Given the description of an element on the screen output the (x, y) to click on. 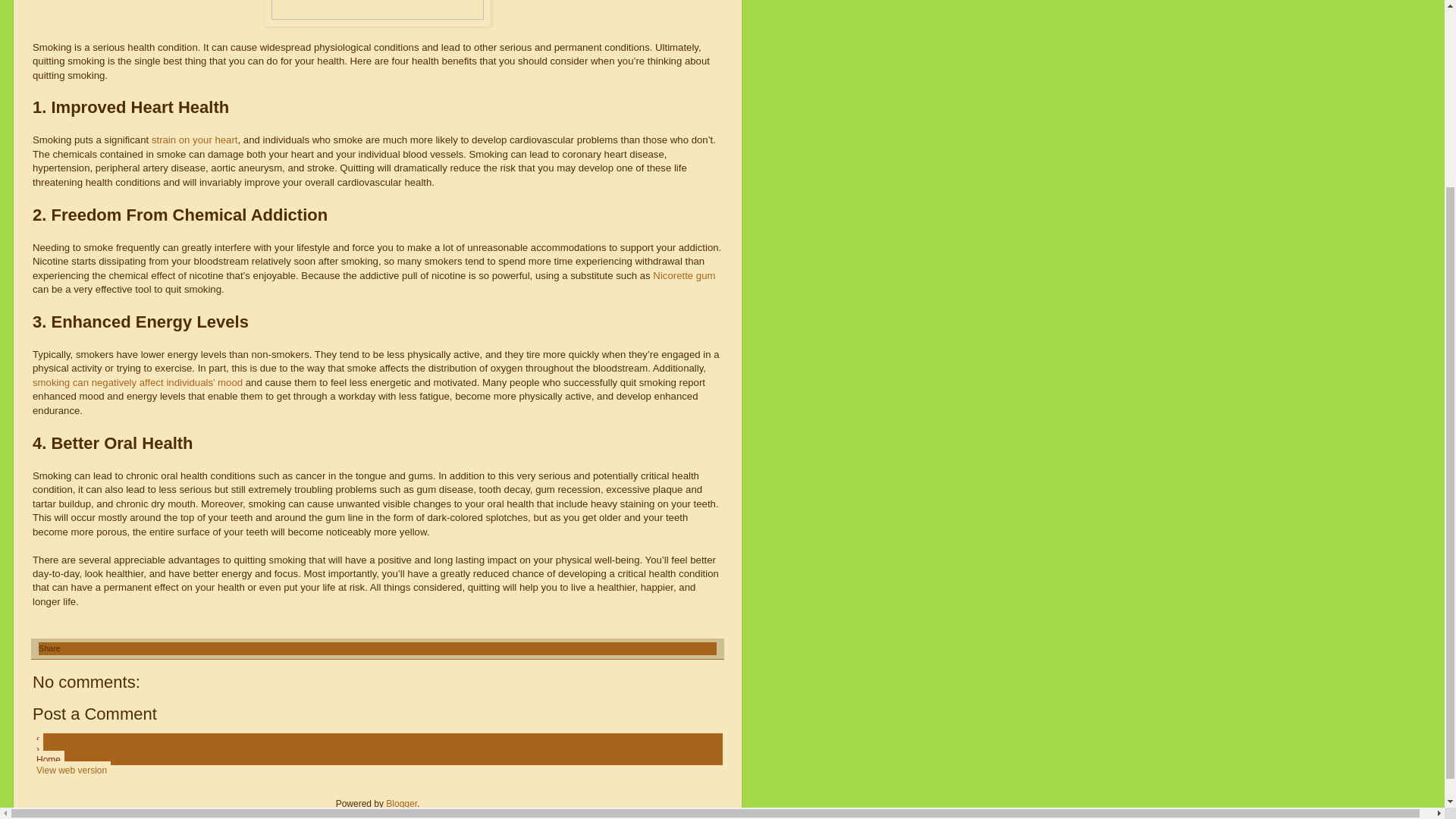
View web version (71, 770)
Home (48, 760)
Share (50, 647)
strain on your heart (194, 139)
Nicorette gum (683, 275)
Older Post (37, 749)
Newer Post (37, 738)
Post a Comment (94, 713)
Blogger (400, 803)
